Given the description of an element on the screen output the (x, y) to click on. 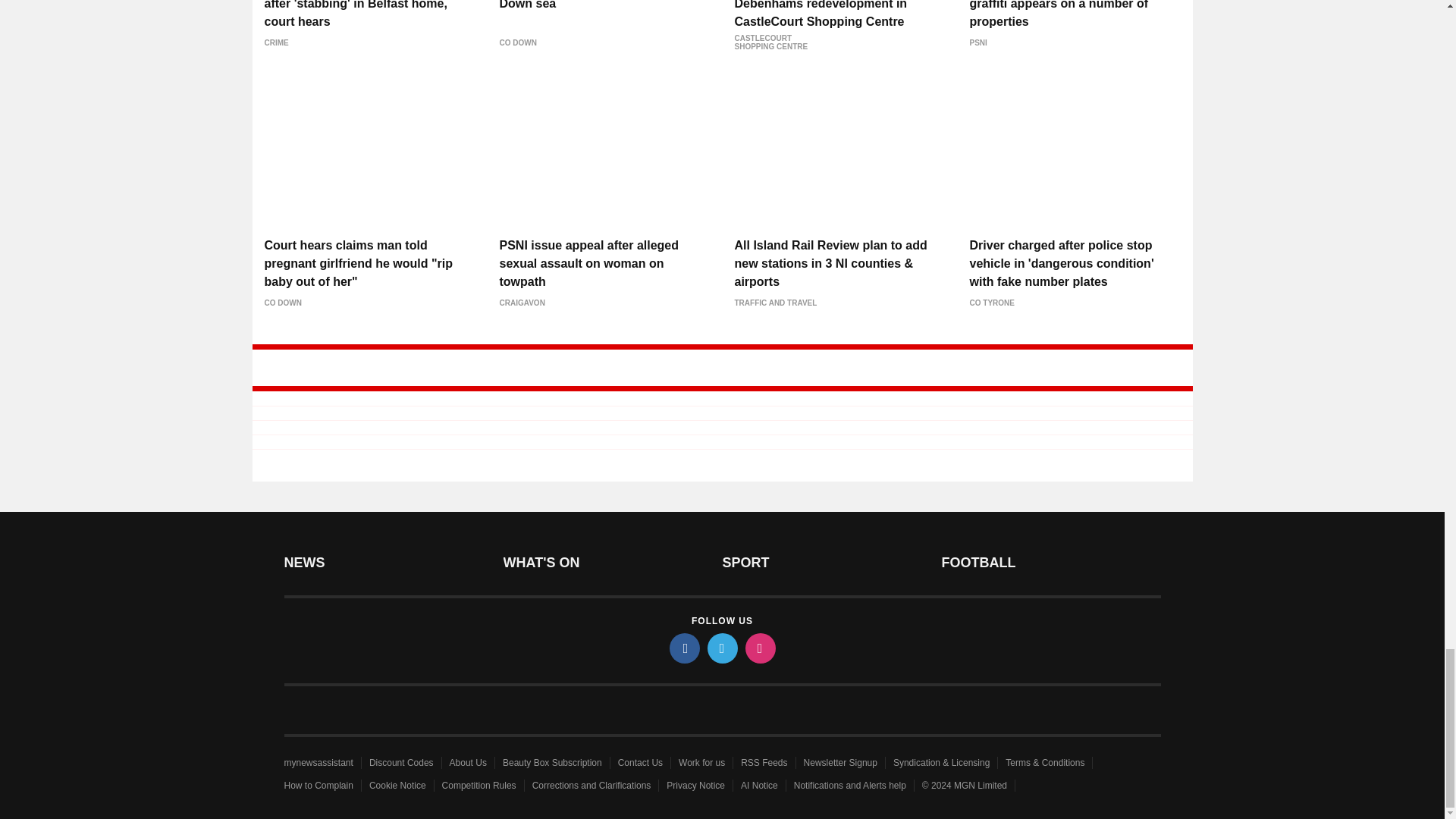
instagram (759, 648)
facebook (683, 648)
twitter (721, 648)
